Given the description of an element on the screen output the (x, y) to click on. 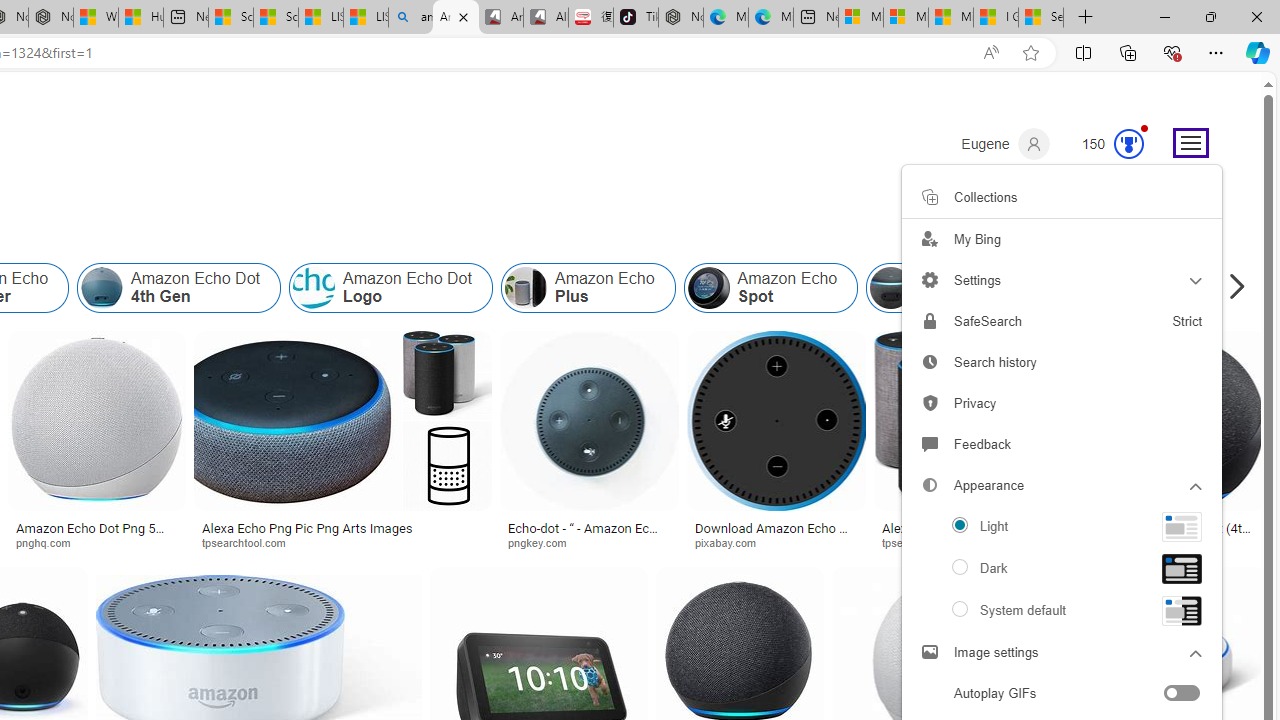
Echo Dot Generations (1162, 287)
pnghq.com (96, 542)
Alexa Echo Png Pic Png Arts Imagestpsearchtool.comSave (347, 444)
Class: outer-circle-animation (1129, 143)
My Bing (1062, 238)
Image settings (929, 651)
Image settings Image settings (1062, 652)
